Given the description of an element on the screen output the (x, y) to click on. 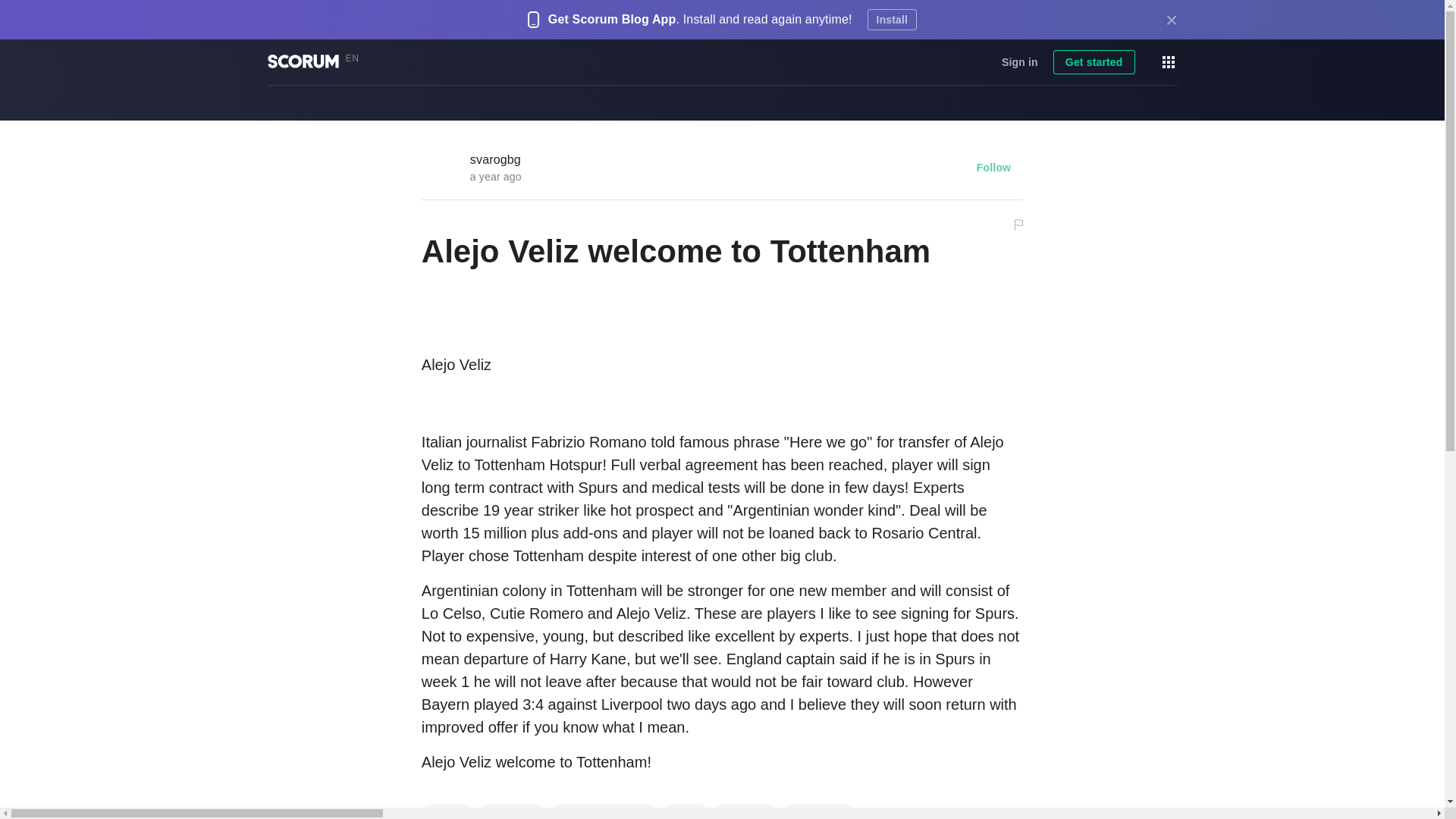
Get started (1093, 61)
Sign in (1019, 61)
Install and read again anytime! (766, 19)
Get Scorum Blog App (612, 19)
Install (892, 19)
Install (892, 19)
2023-08-04 06:41 (495, 176)
EN (357, 59)
